Given the description of an element on the screen output the (x, y) to click on. 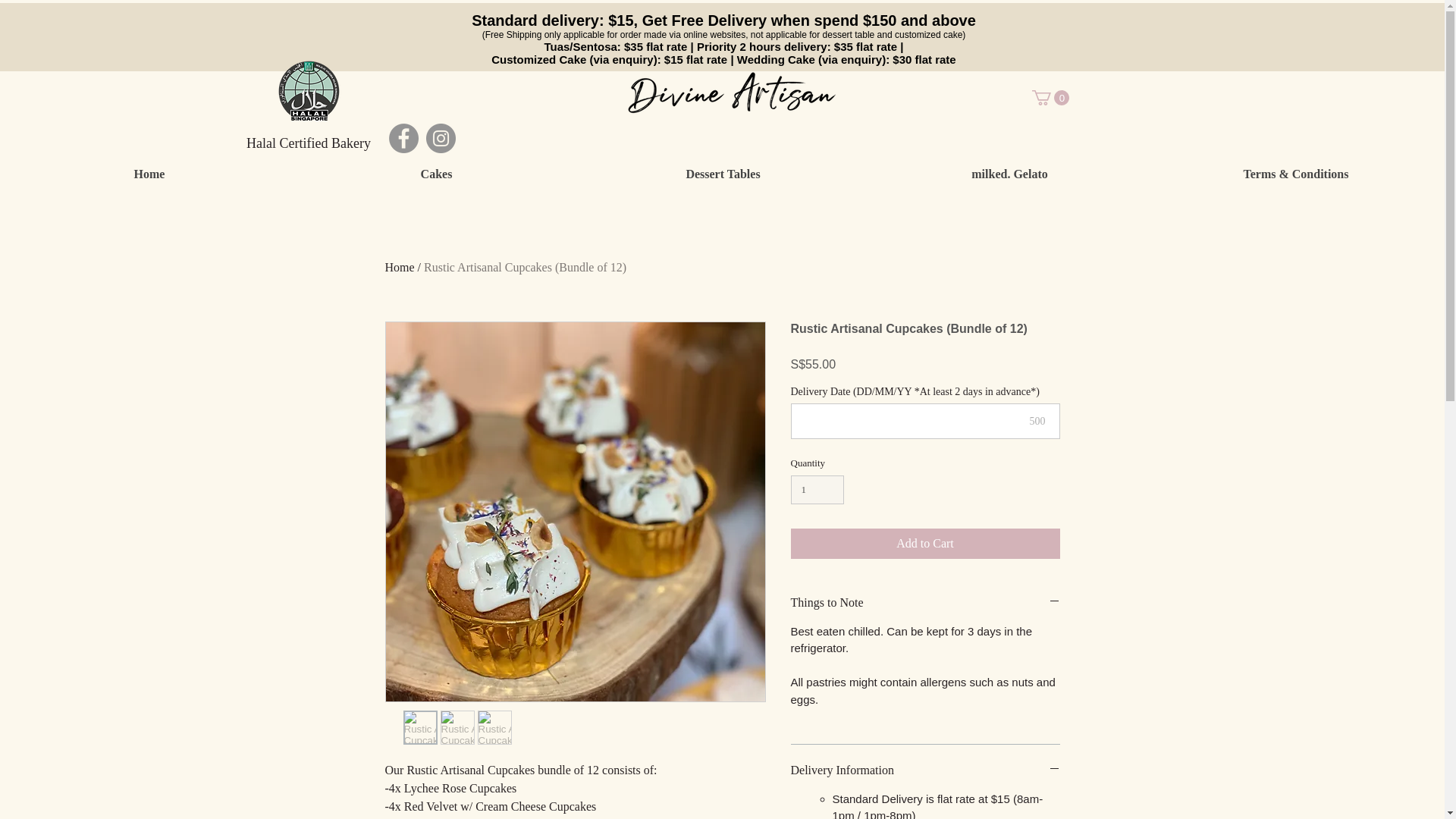
milked. Gelato (1009, 173)
1 (817, 489)
Cakes (435, 173)
Add to Cart (924, 543)
Home (399, 267)
Home (148, 173)
Things to Note (924, 602)
Delivery Information (924, 770)
0 (1049, 97)
0 (1049, 97)
